Given the description of an element on the screen output the (x, y) to click on. 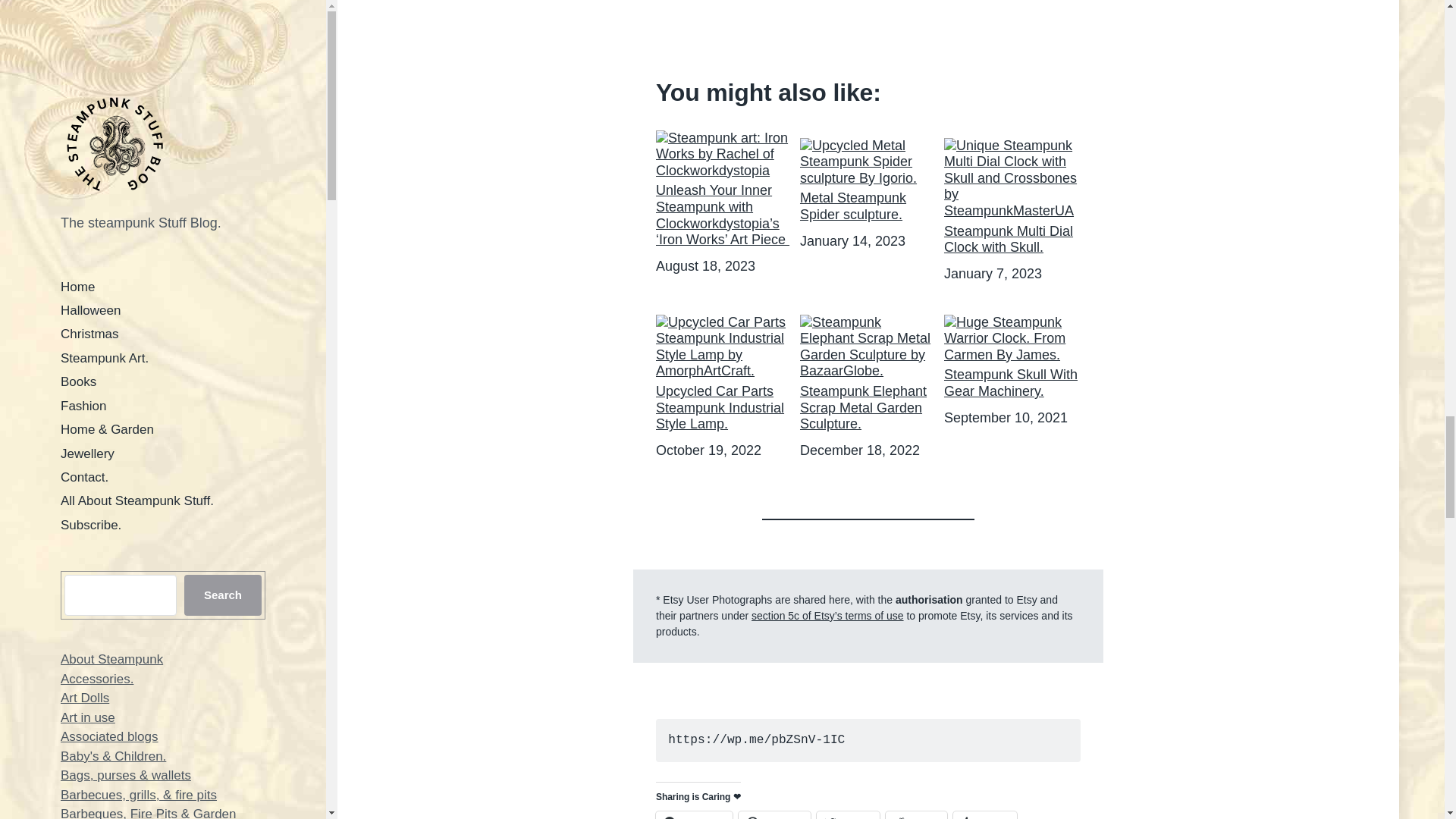
Click to share on Reddit (916, 815)
Click to share on Tumblr (984, 815)
Click to share on Facebook (694, 815)
Click to share on Pinterest (774, 815)
Click to share on Twitter (847, 815)
